Given the description of an element on the screen output the (x, y) to click on. 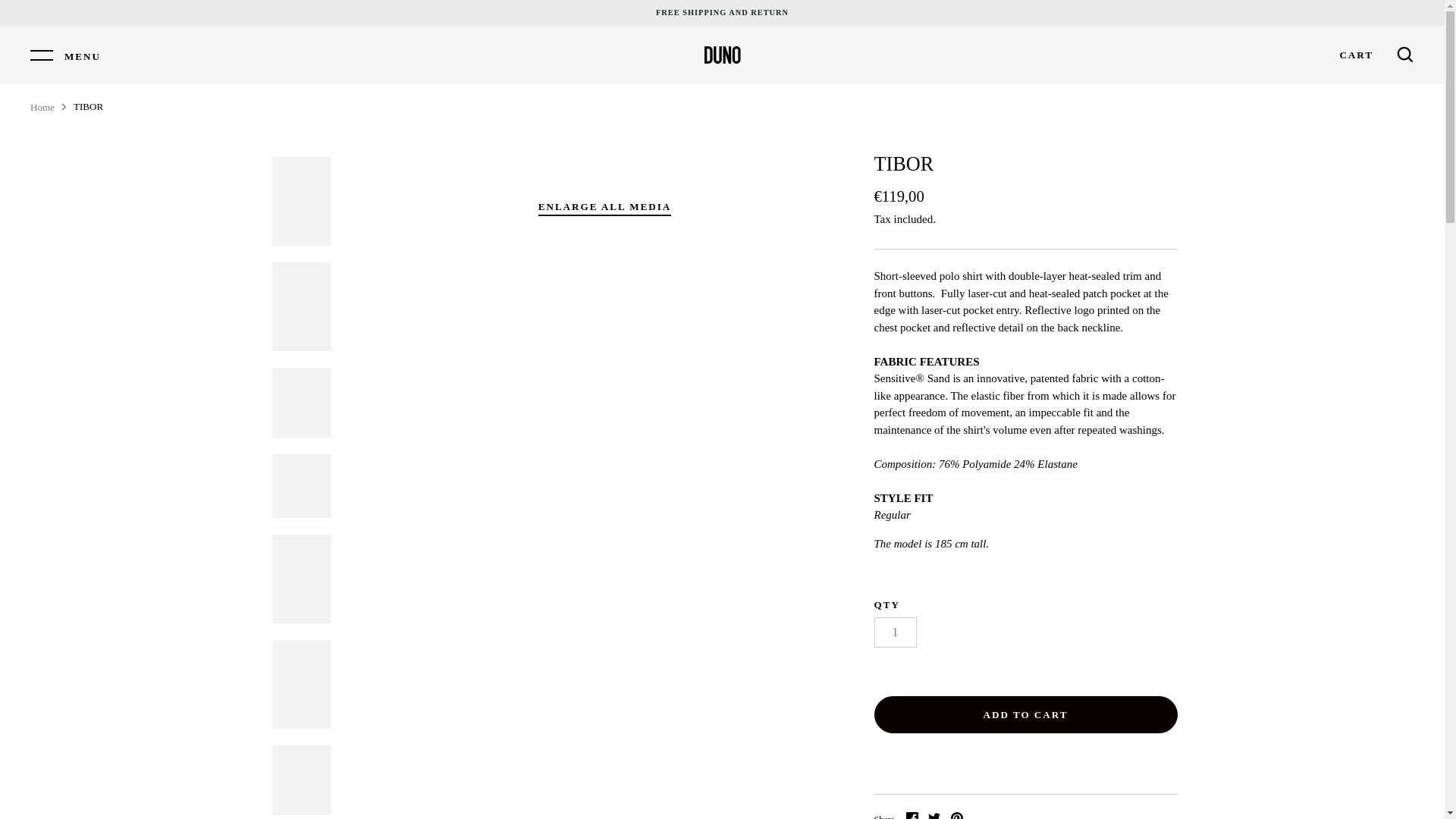
1 (894, 632)
Twitter (934, 815)
MENU (65, 54)
Pinterest (956, 815)
Facebook (911, 815)
CART (1356, 54)
Home (42, 107)
